Given the description of an element on the screen output the (x, y) to click on. 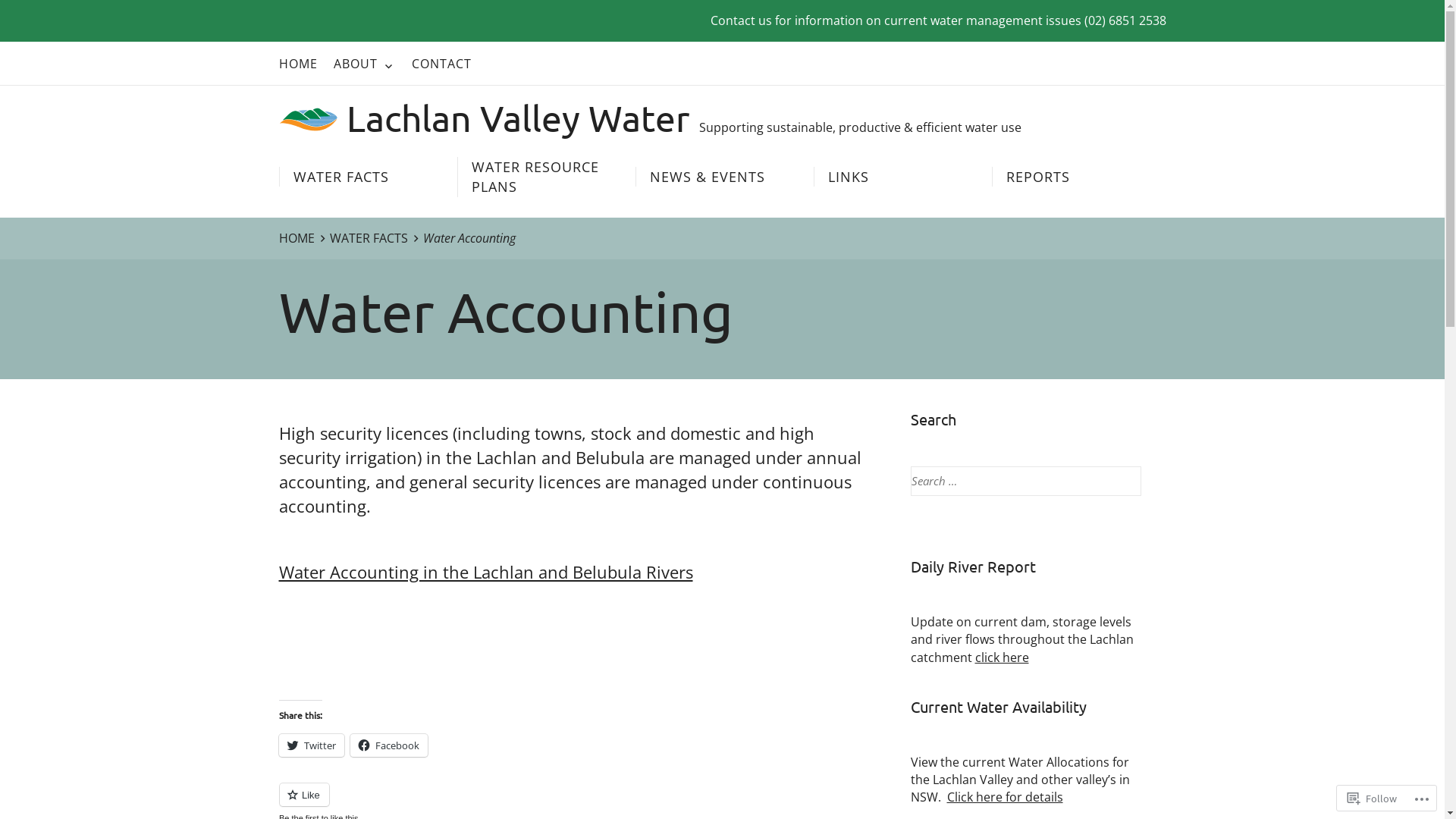
HOME Element type: text (304, 237)
Search for: Element type: hover (1025, 480)
ABOUT Element type: text (364, 63)
NEWS & EVENTS Element type: text (723, 176)
WATER RESOURCE PLANS Element type: text (544, 176)
LINKS Element type: text (901, 176)
Follow Element type: text (1371, 797)
CONTACT Element type: text (440, 63)
HOME Element type: text (298, 63)
click here Element type: text (1002, 657)
REPORTS Element type: text (1080, 176)
Facebook Element type: text (388, 745)
Search Element type: text (32, 14)
WATER FACTS Element type: text (367, 176)
Click here for details Element type: text (1004, 796)
WATER FACTS Element type: text (375, 237)
Water Accounting in the Lachlan and Belubula Rivers Element type: text (486, 571)
Lachlan Valley Water Element type: text (484, 117)
Twitter Element type: text (311, 745)
